Given the description of an element on the screen output the (x, y) to click on. 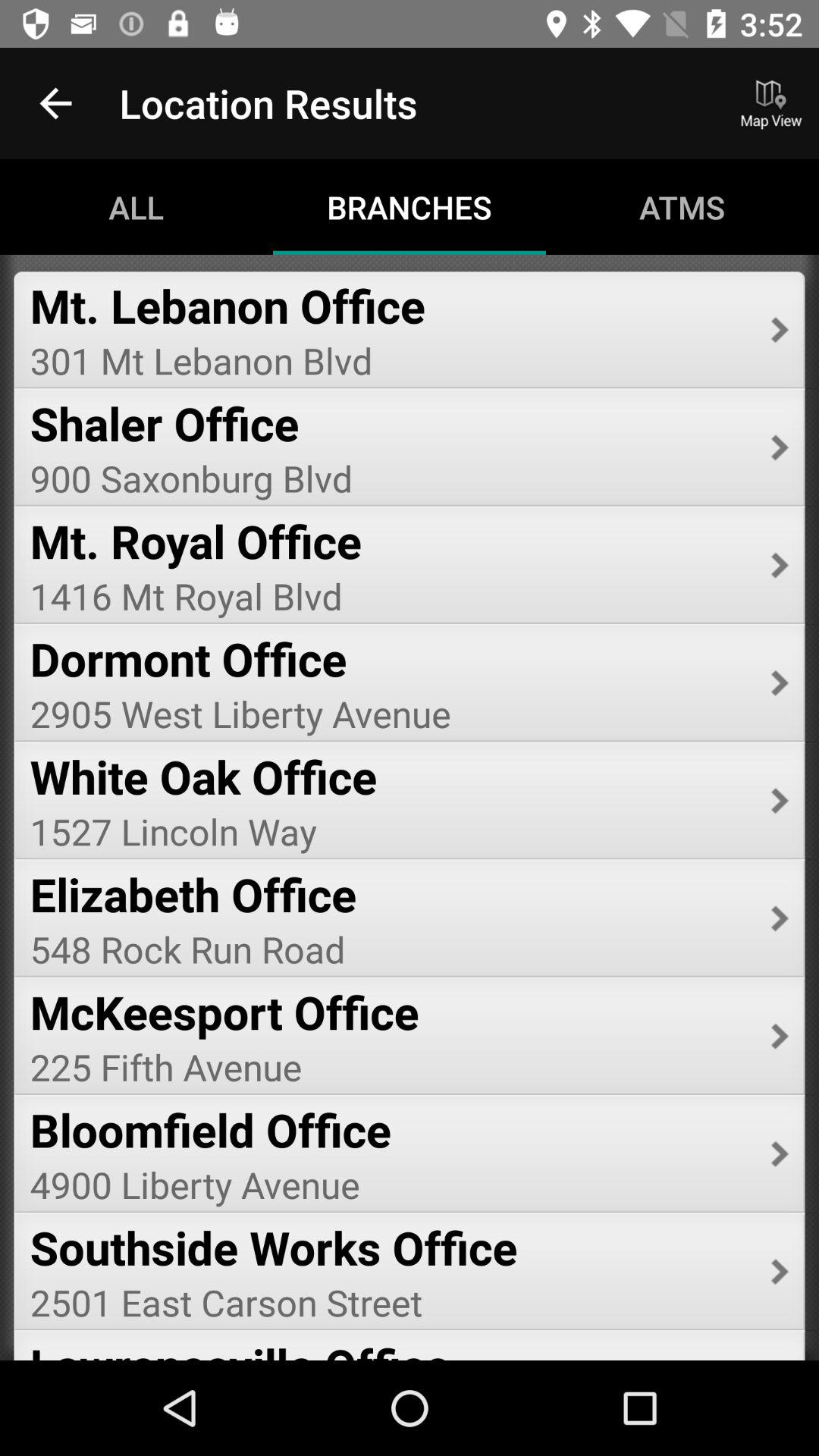
turn on the icon above all (55, 103)
